Given the description of an element on the screen output the (x, y) to click on. 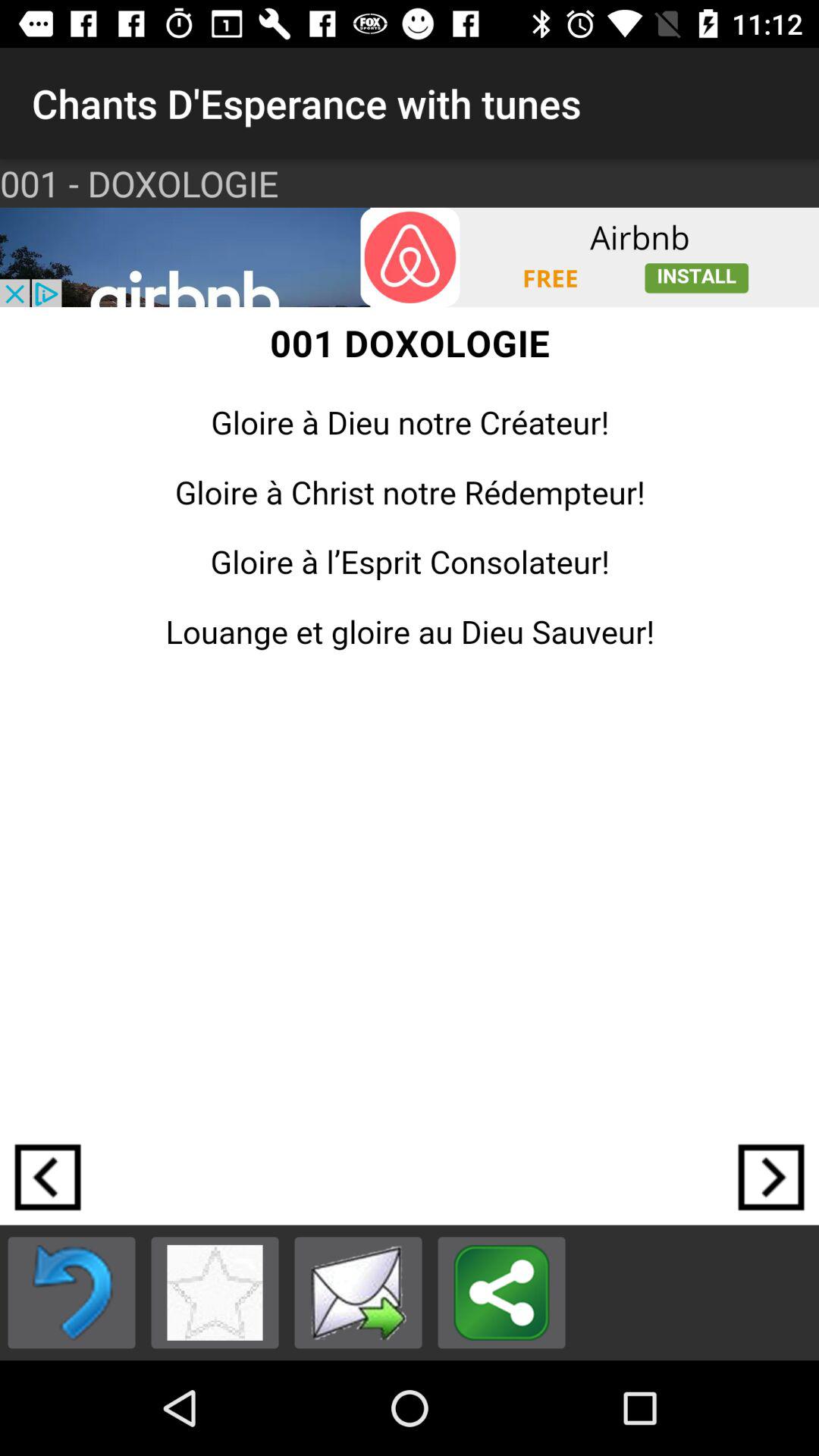
add to bookmarks (214, 1292)
